Given the description of an element on the screen output the (x, y) to click on. 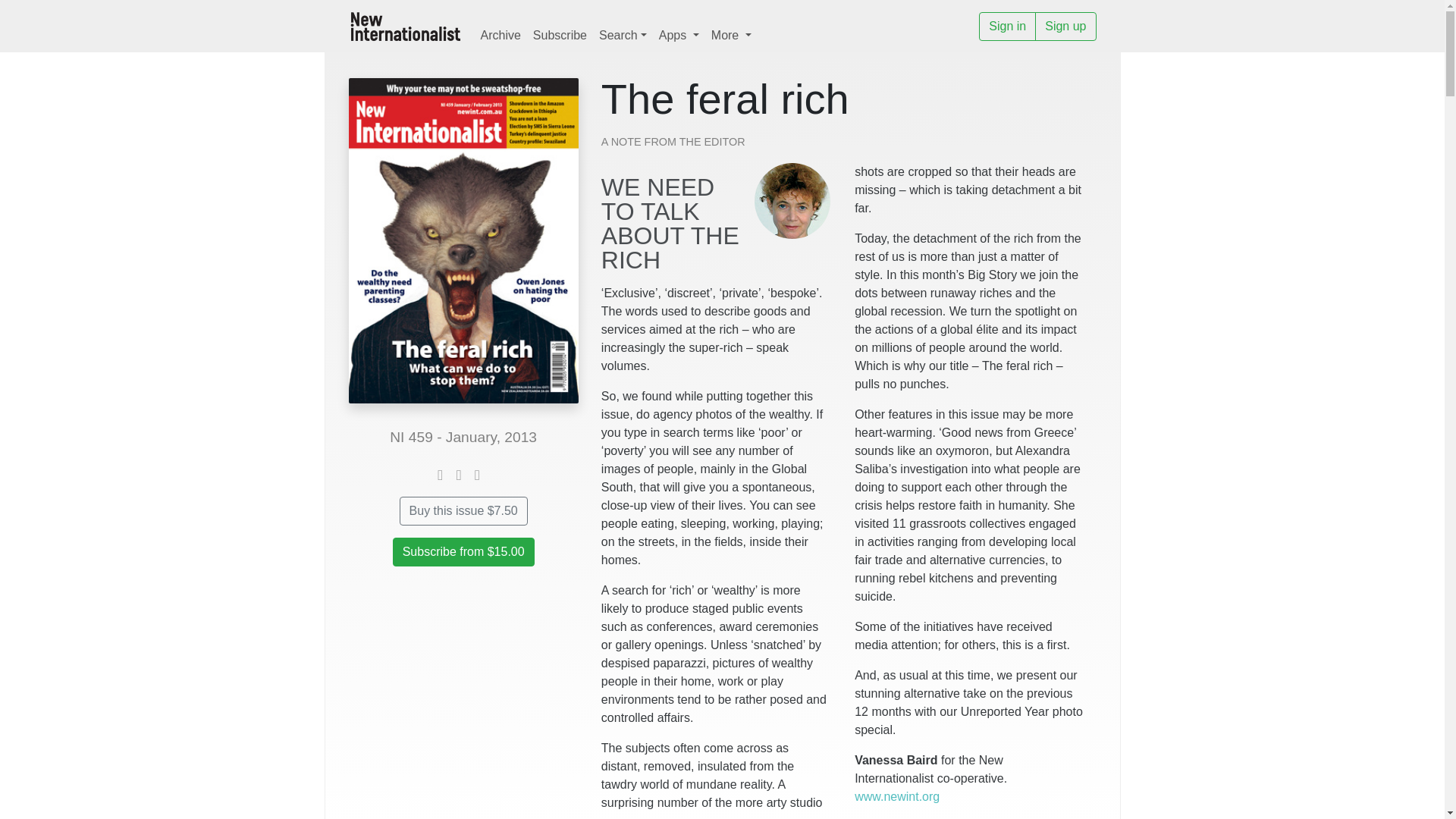
New Internationalist - The world unspun (406, 25)
Search (622, 35)
Archive (500, 35)
www.newint.org (896, 796)
Apps (678, 35)
Sign up (1065, 26)
More (730, 35)
Sign in (1006, 26)
Subscribe (559, 35)
